Given the description of an element on the screen output the (x, y) to click on. 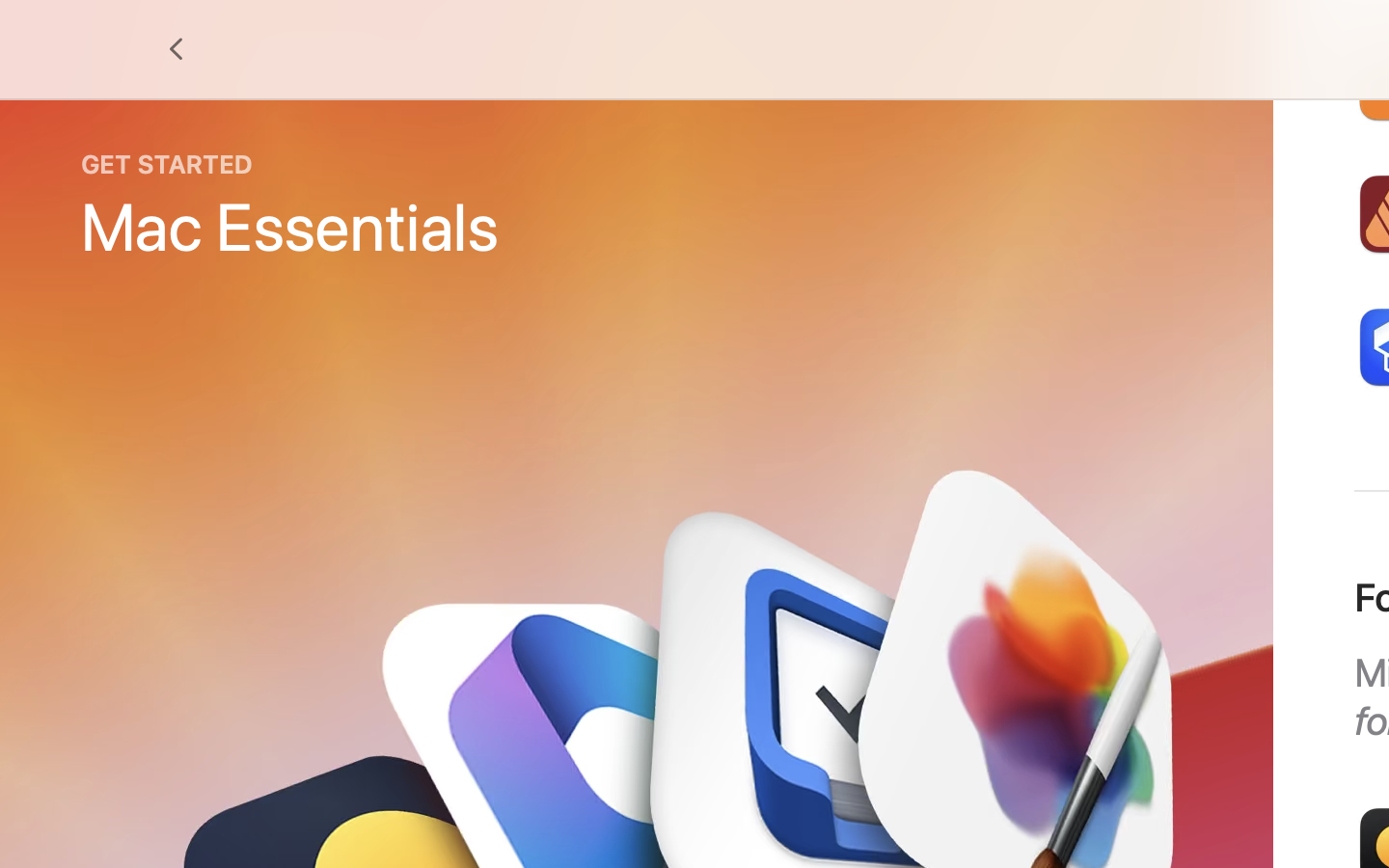
Mac Essentials Element type: AXStaticText (290, 225)
GET STARTED, Mac Essentials, Element type: AXStaticText (290, 207)
